Given the description of an element on the screen output the (x, y) to click on. 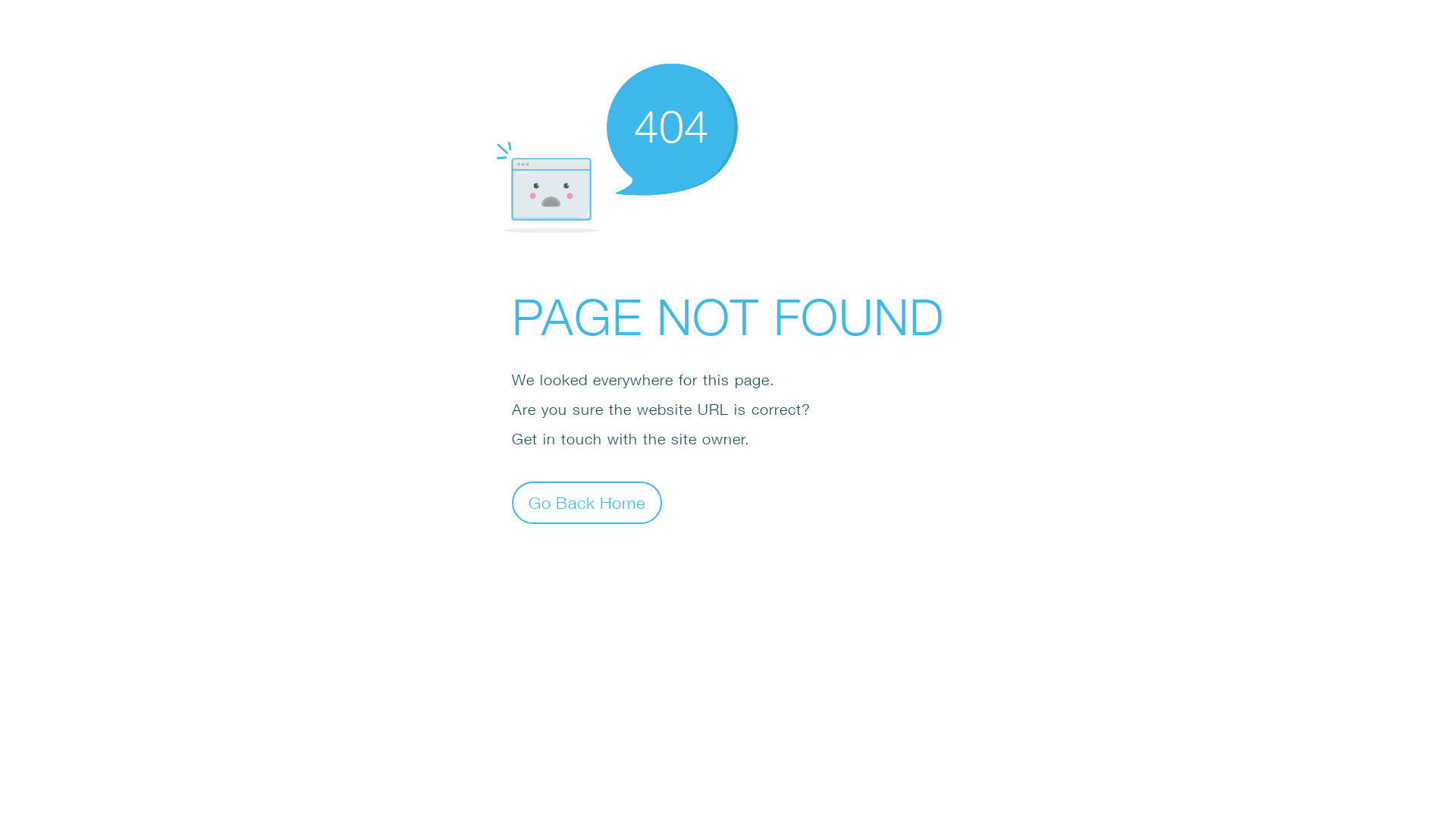
Go Back Home Element type: text (586, 502)
